Given the description of an element on the screen output the (x, y) to click on. 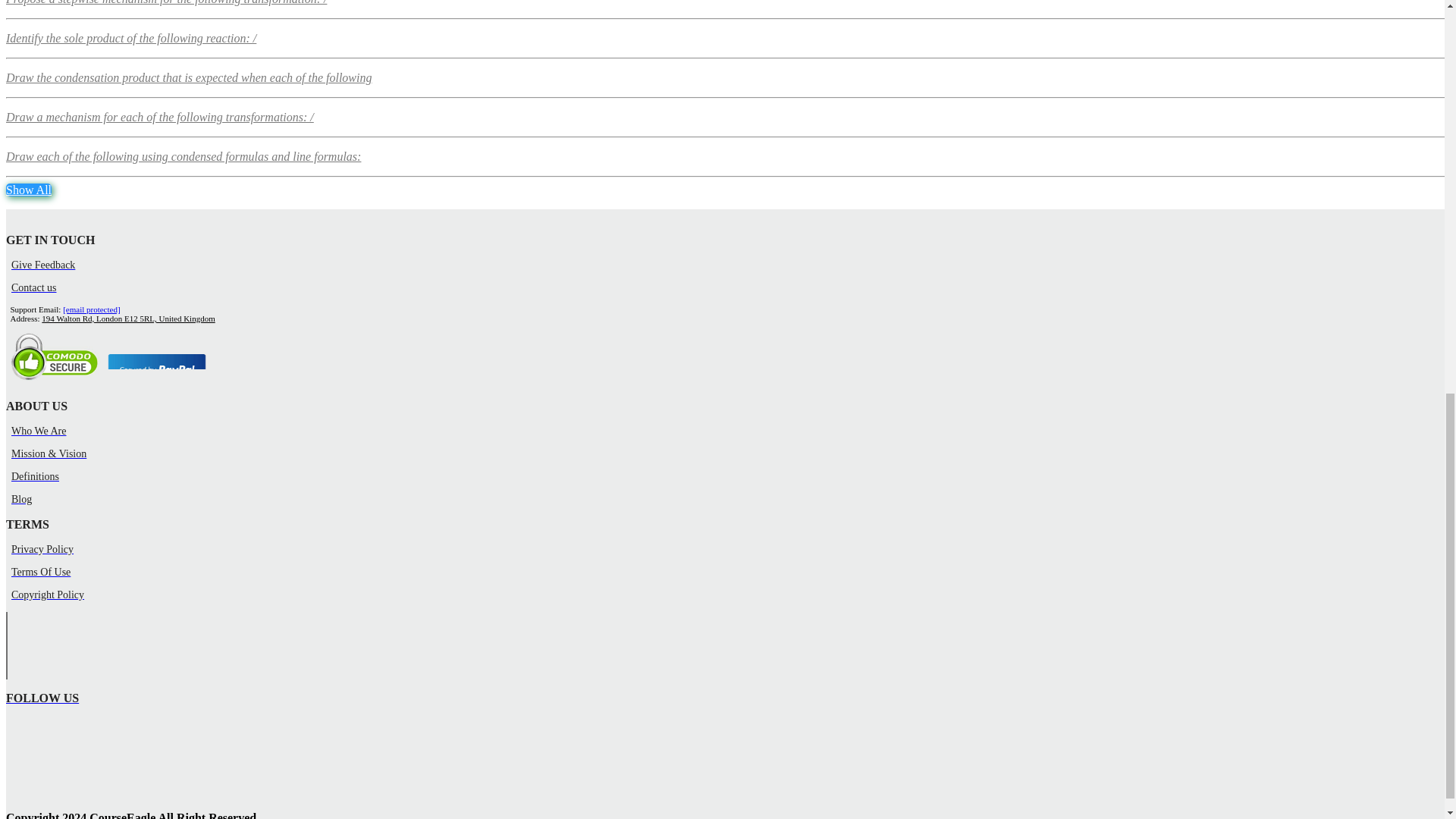
Show All (27, 189)
194 Walton Rd, London E12 5RL, United Kingdom (128, 317)
